Given the description of an element on the screen output the (x, y) to click on. 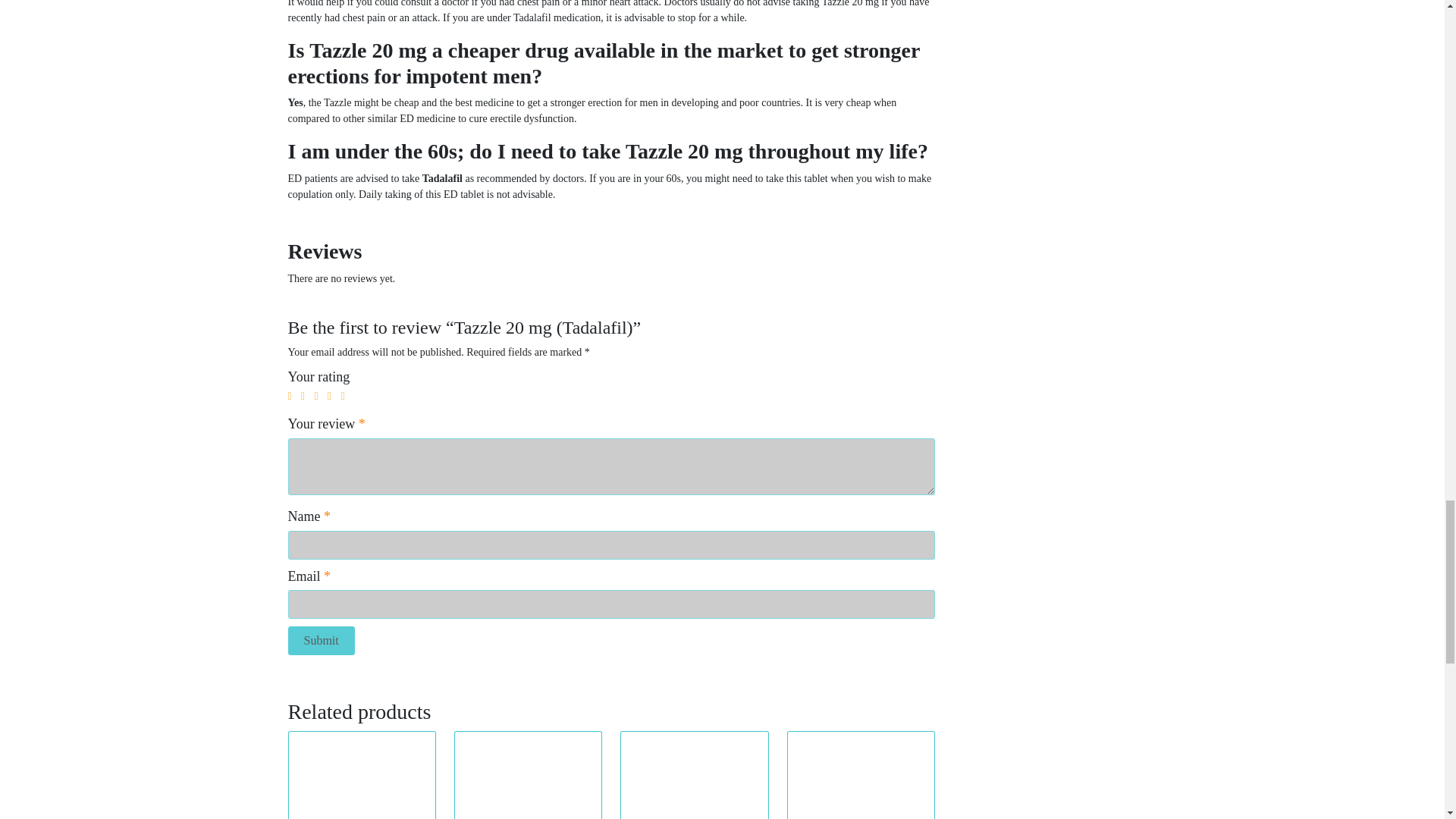
Submit (321, 640)
